Given the description of an element on the screen output the (x, y) to click on. 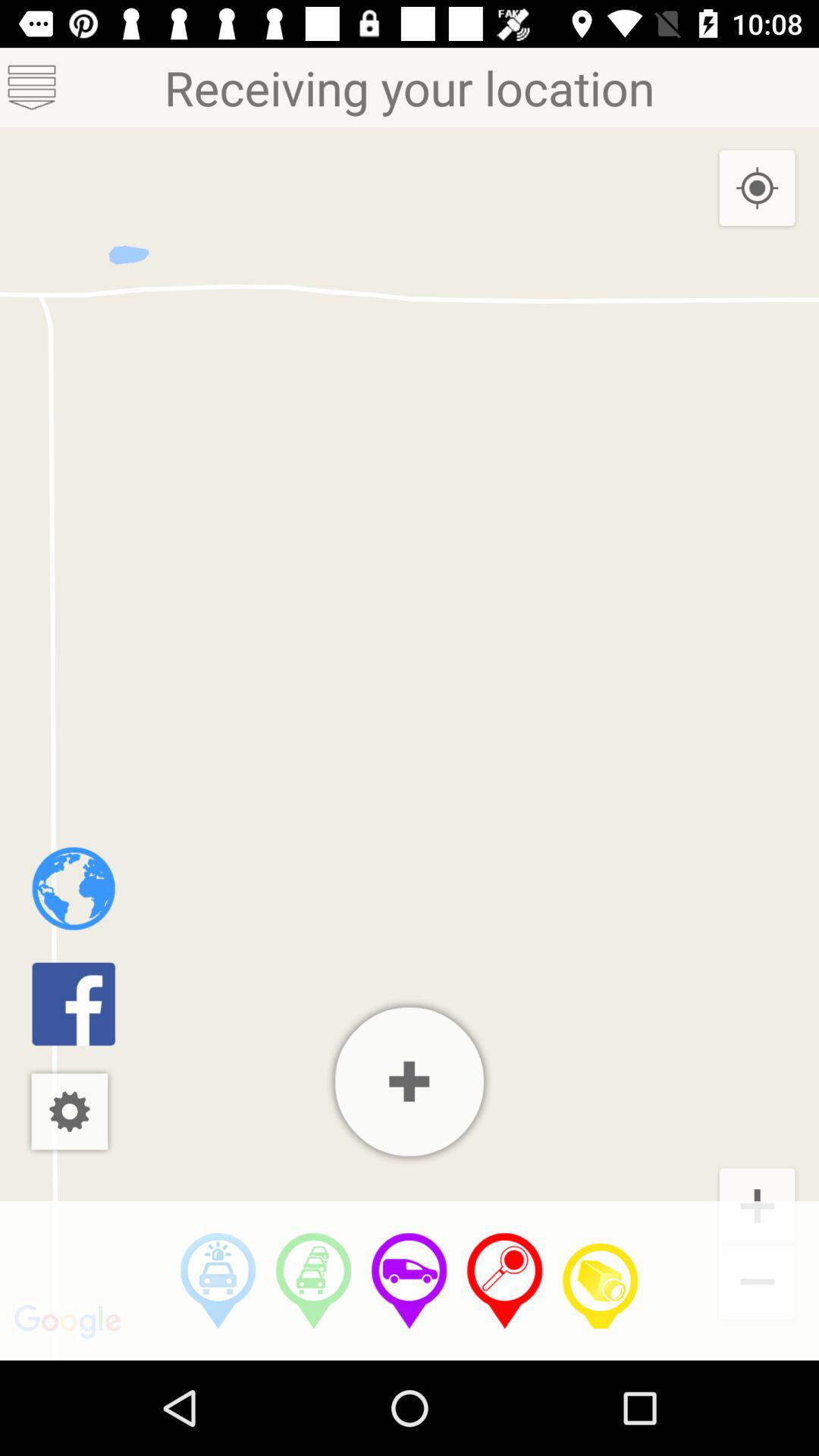
turn off the icon below receiving your location icon (218, 1280)
